Given the description of an element on the screen output the (x, y) to click on. 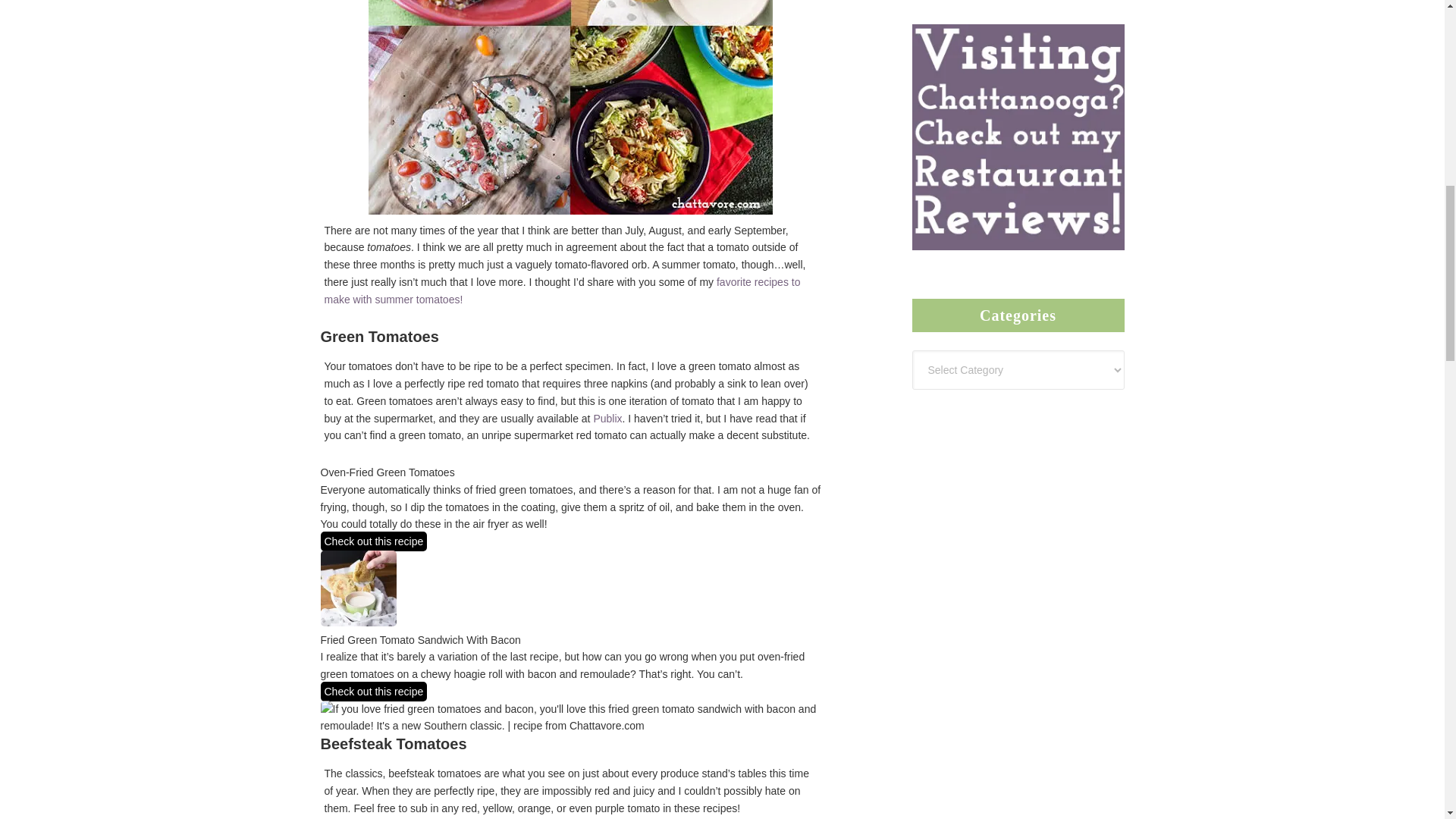
Check out this recipe (373, 552)
Check out this recipe (373, 638)
Check out this recipe (373, 364)
Check out this recipe (373, 55)
Check out this recipe (373, 278)
